Given the description of an element on the screen output the (x, y) to click on. 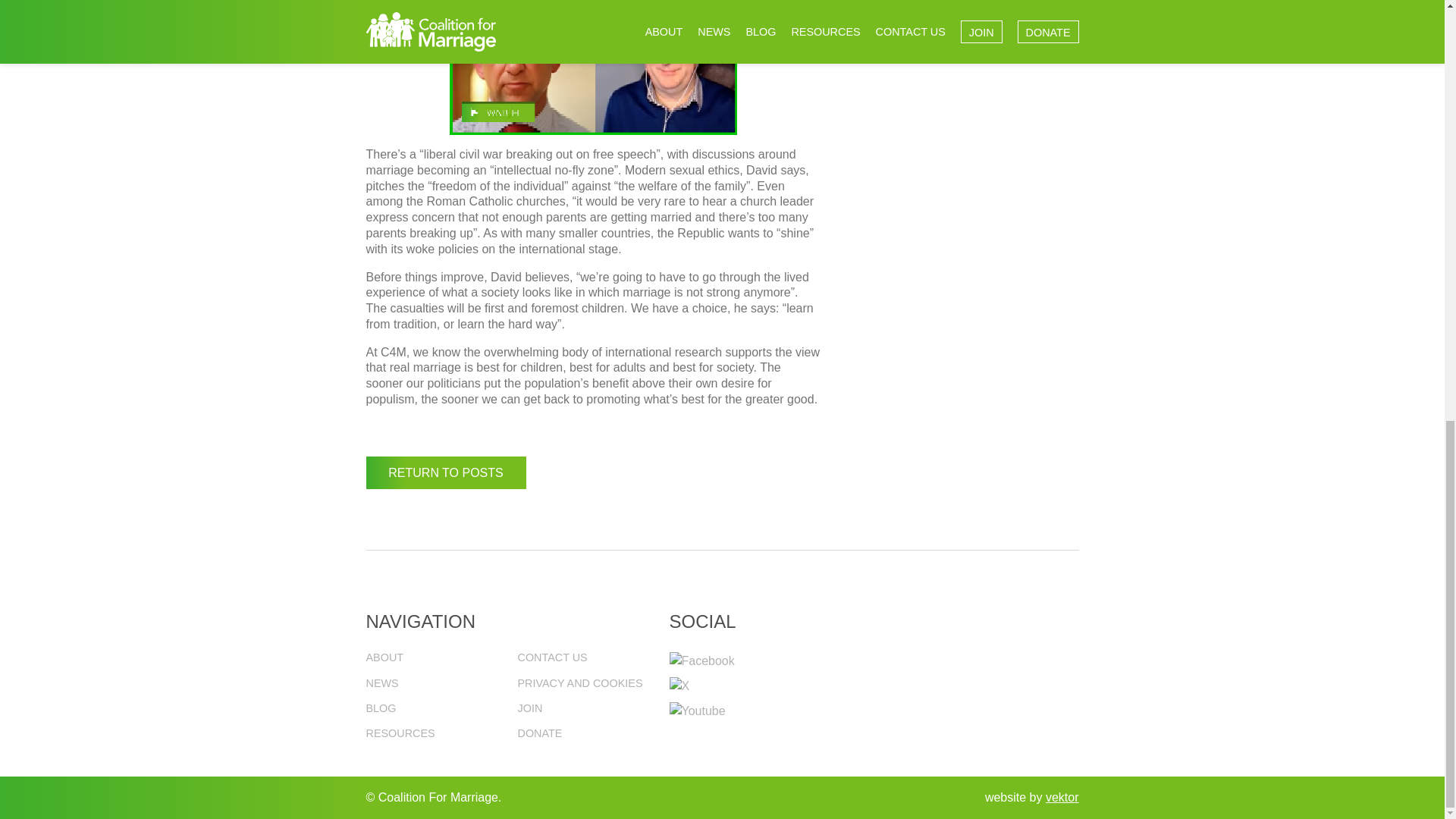
RETURN TO POSTS (445, 472)
